Given the description of an element on the screen output the (x, y) to click on. 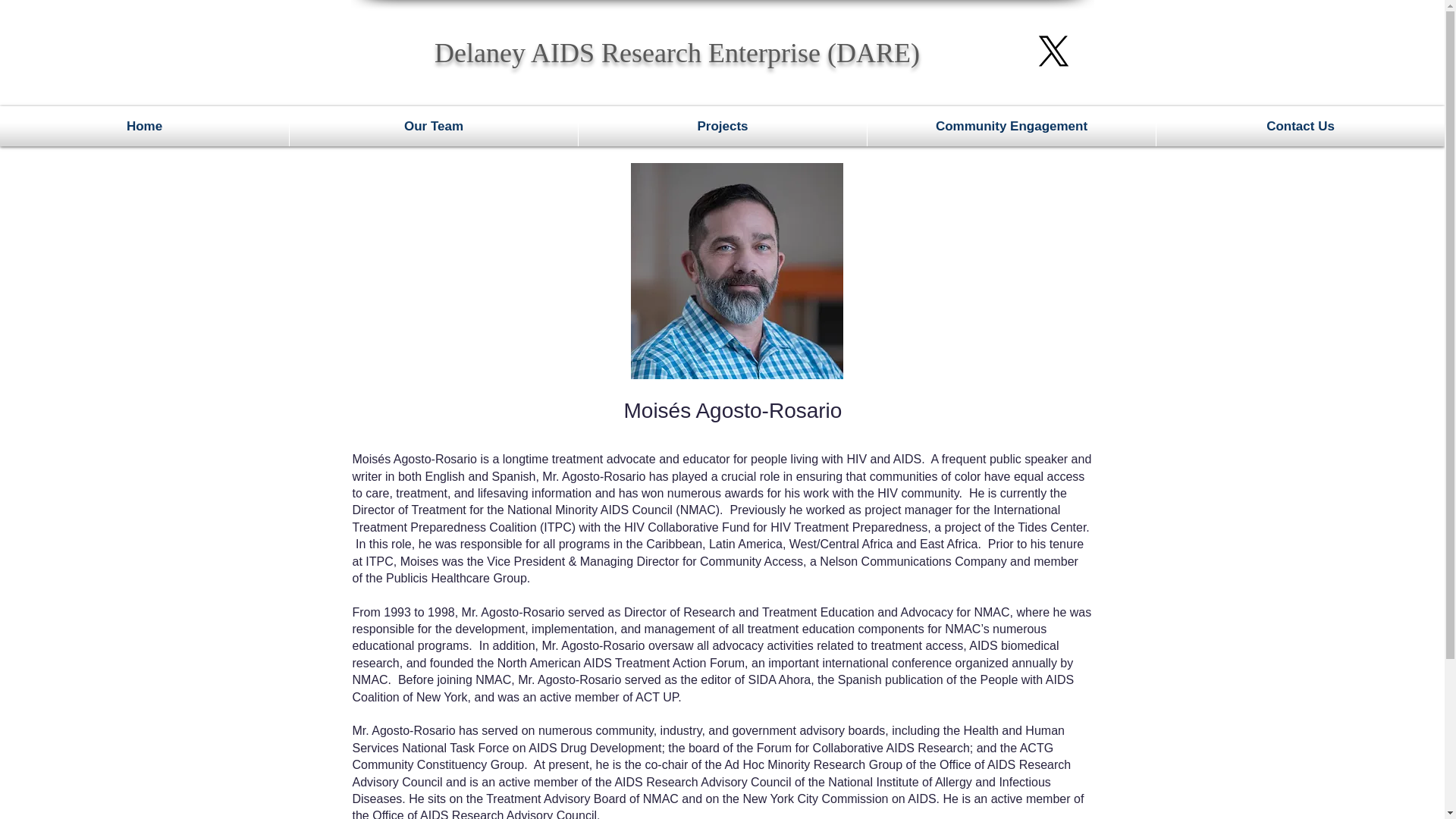
Our Team (433, 126)
Community Engagement (1011, 126)
Home (144, 126)
Projects (722, 126)
